Given the description of an element on the screen output the (x, y) to click on. 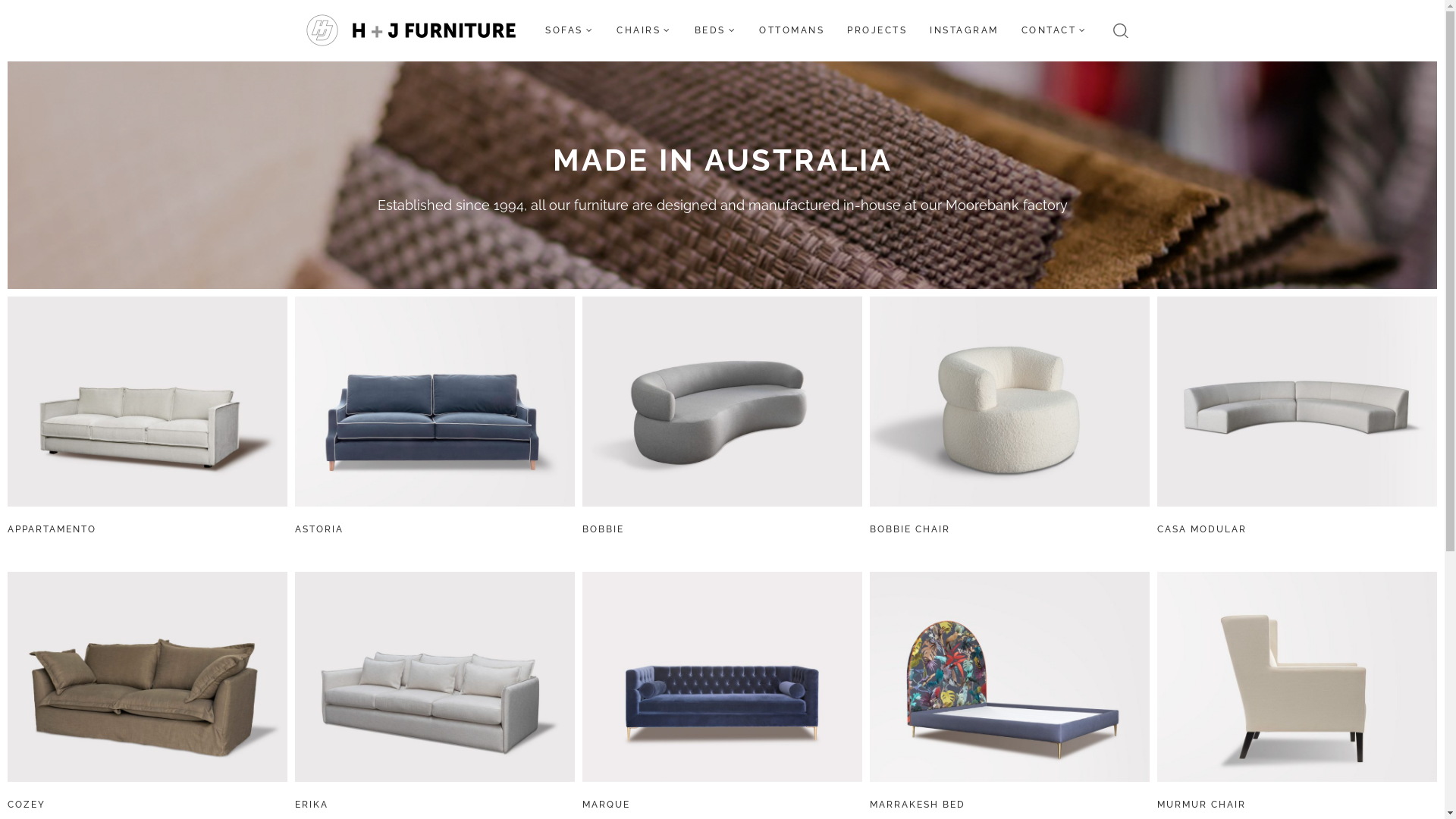
APPARTAMENTO Element type: text (51, 529)
ERIKA Element type: text (311, 804)
PROJECTS Element type: text (876, 30)
MURMUR CHAIR Element type: text (1201, 804)
INSTAGRAM Element type: text (964, 30)
SOFAS Element type: text (569, 30)
BOBBIE CHAIR Element type: text (909, 529)
COZEY Element type: text (26, 804)
BEDS Element type: text (714, 30)
MARQUE Element type: text (606, 804)
ASTORIA Element type: text (318, 529)
OTTOMANS Element type: text (791, 30)
BOBBIE Element type: text (603, 529)
CHAIRS Element type: text (644, 30)
CASA MODULAR Element type: text (1201, 529)
CONTACT Element type: text (1054, 30)
MARRAKESH BED Element type: text (917, 804)
